Given the description of an element on the screen output the (x, y) to click on. 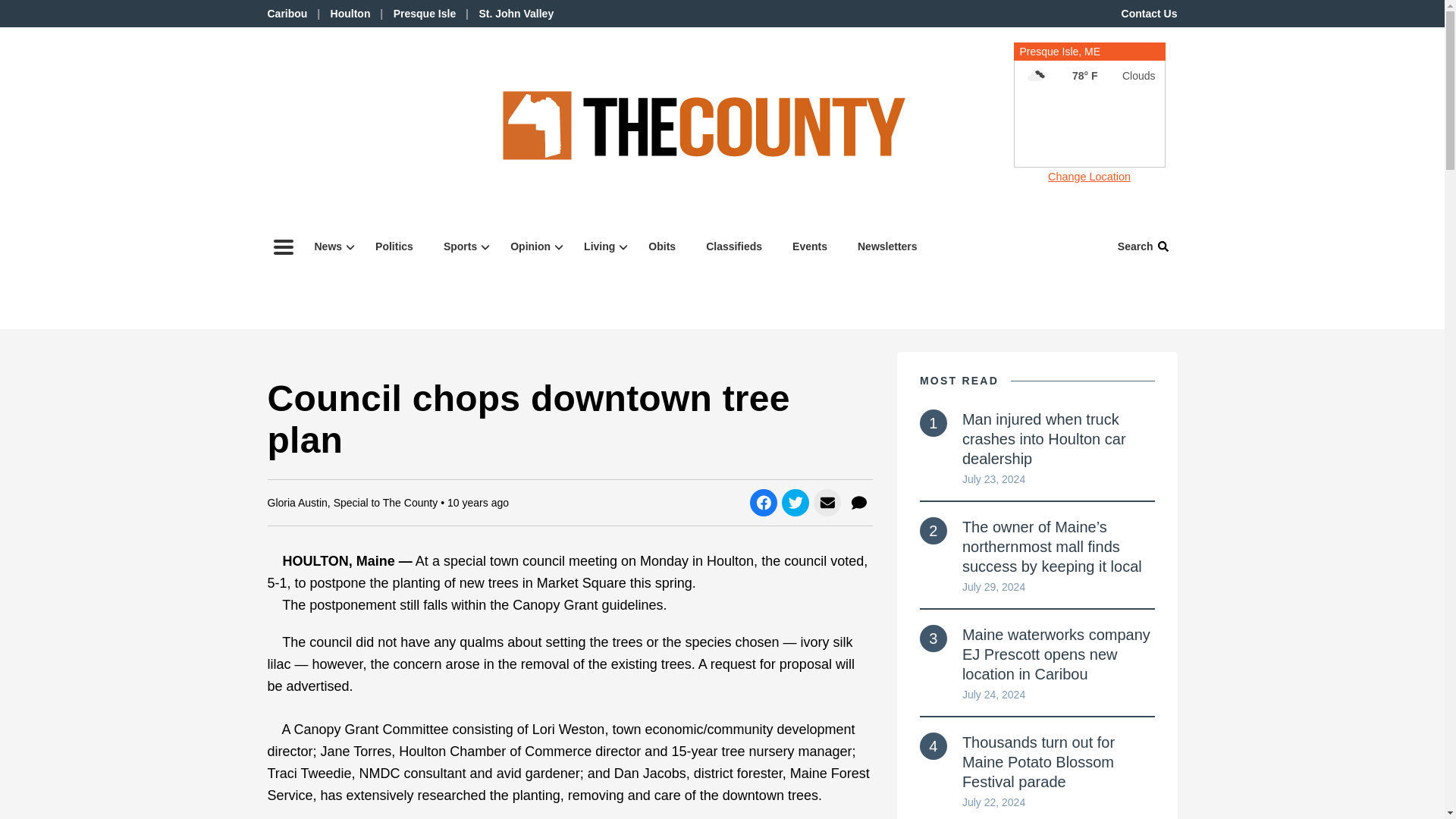
News (328, 246)
Houlton (350, 13)
Contact Us (1149, 13)
Politics (393, 246)
St. John Valley (516, 13)
Events (810, 246)
Caribou (286, 13)
Opinion (1088, 66)
Sports (532, 246)
Classifieds (461, 246)
Presque Isle (733, 246)
Obits (425, 13)
Living (661, 246)
Newsletters (601, 246)
